Given the description of an element on the screen output the (x, y) to click on. 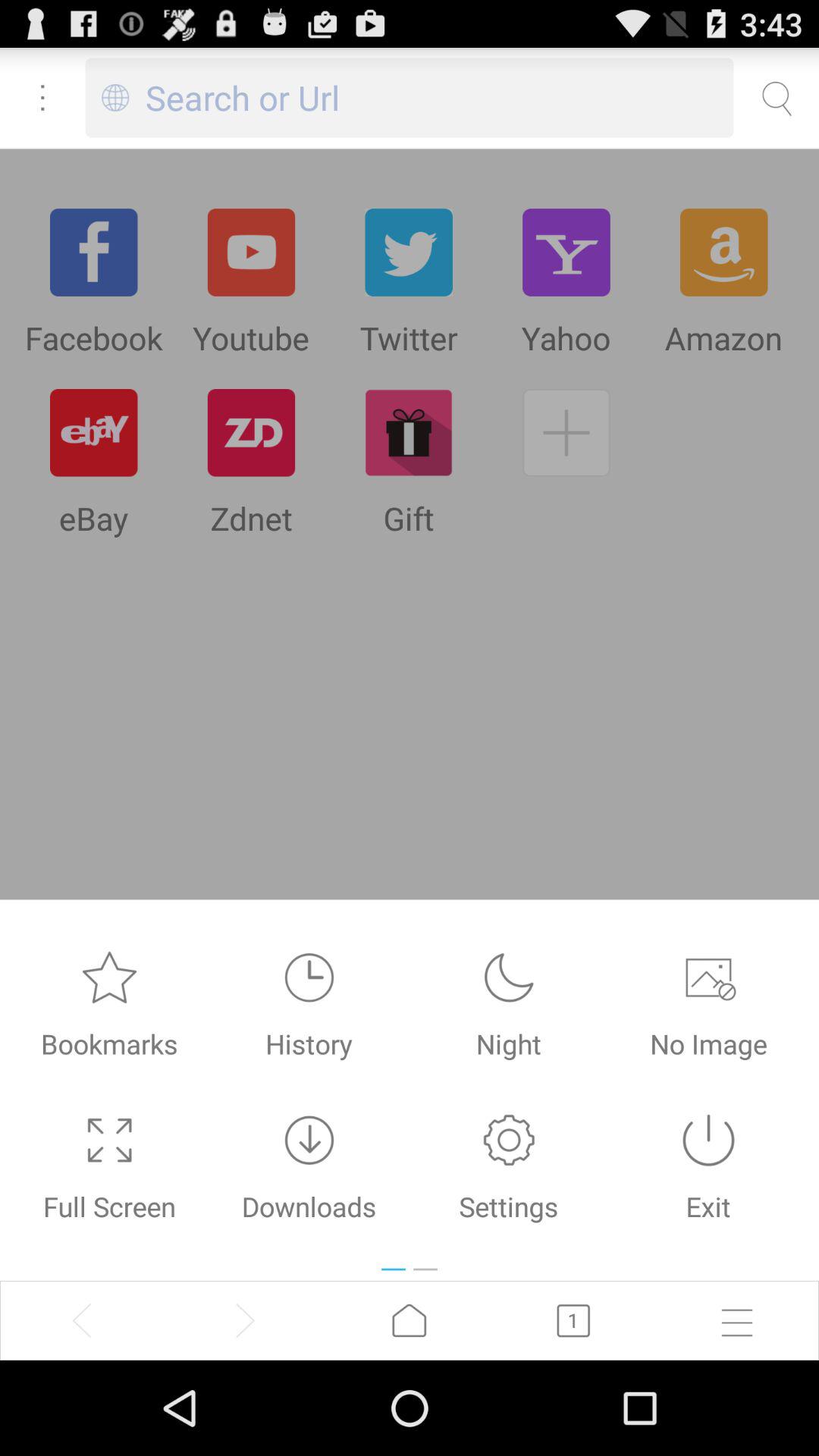
choose the icon to the left of the search or url (115, 97)
